Given the description of an element on the screen output the (x, y) to click on. 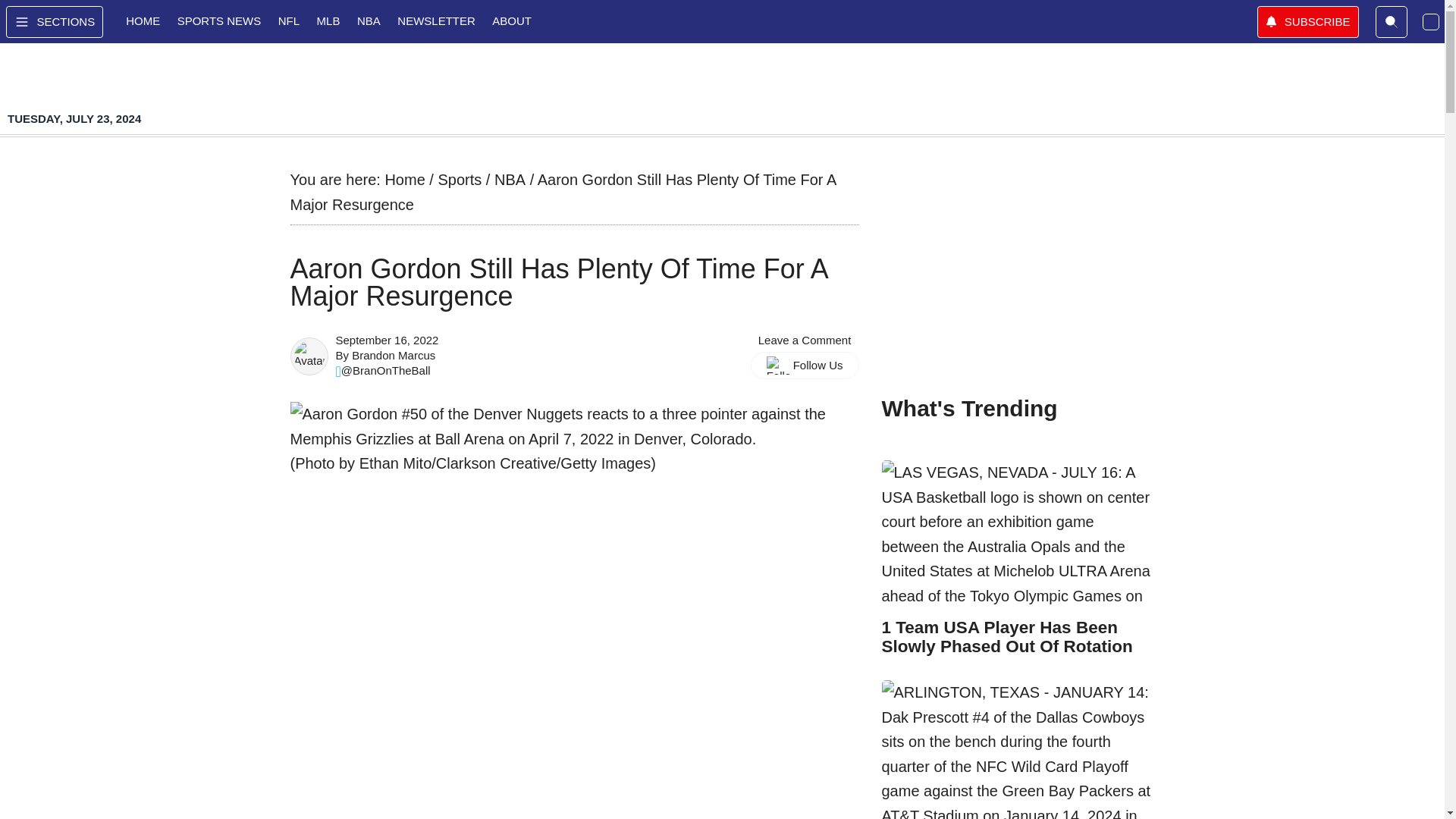
Search (1391, 21)
Open Menu (54, 21)
